Given the description of an element on the screen output the (x, y) to click on. 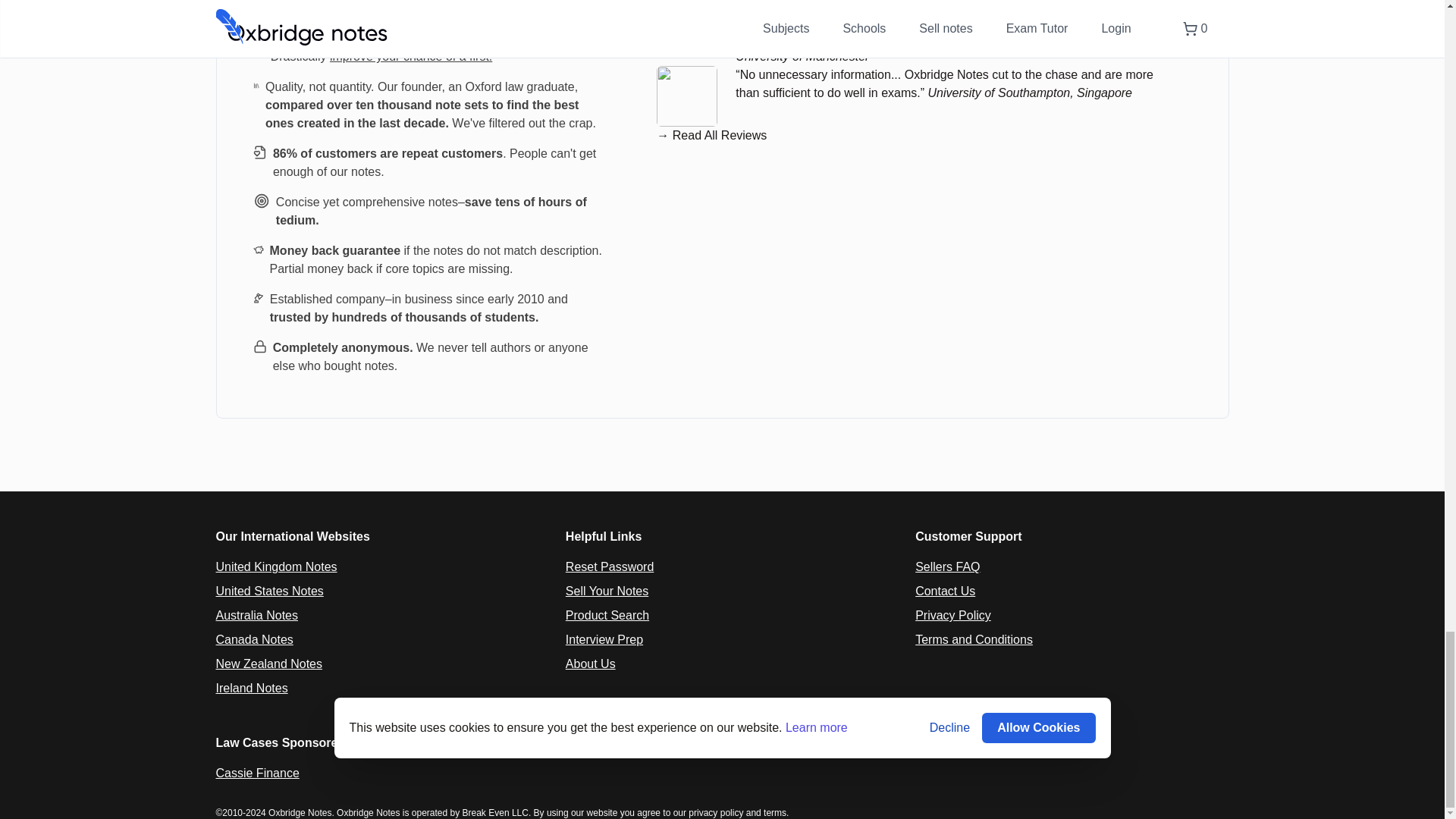
United Kingdom Notes (275, 566)
United States Notes (269, 590)
Read All Reviews (719, 134)
